Given the description of an element on the screen output the (x, y) to click on. 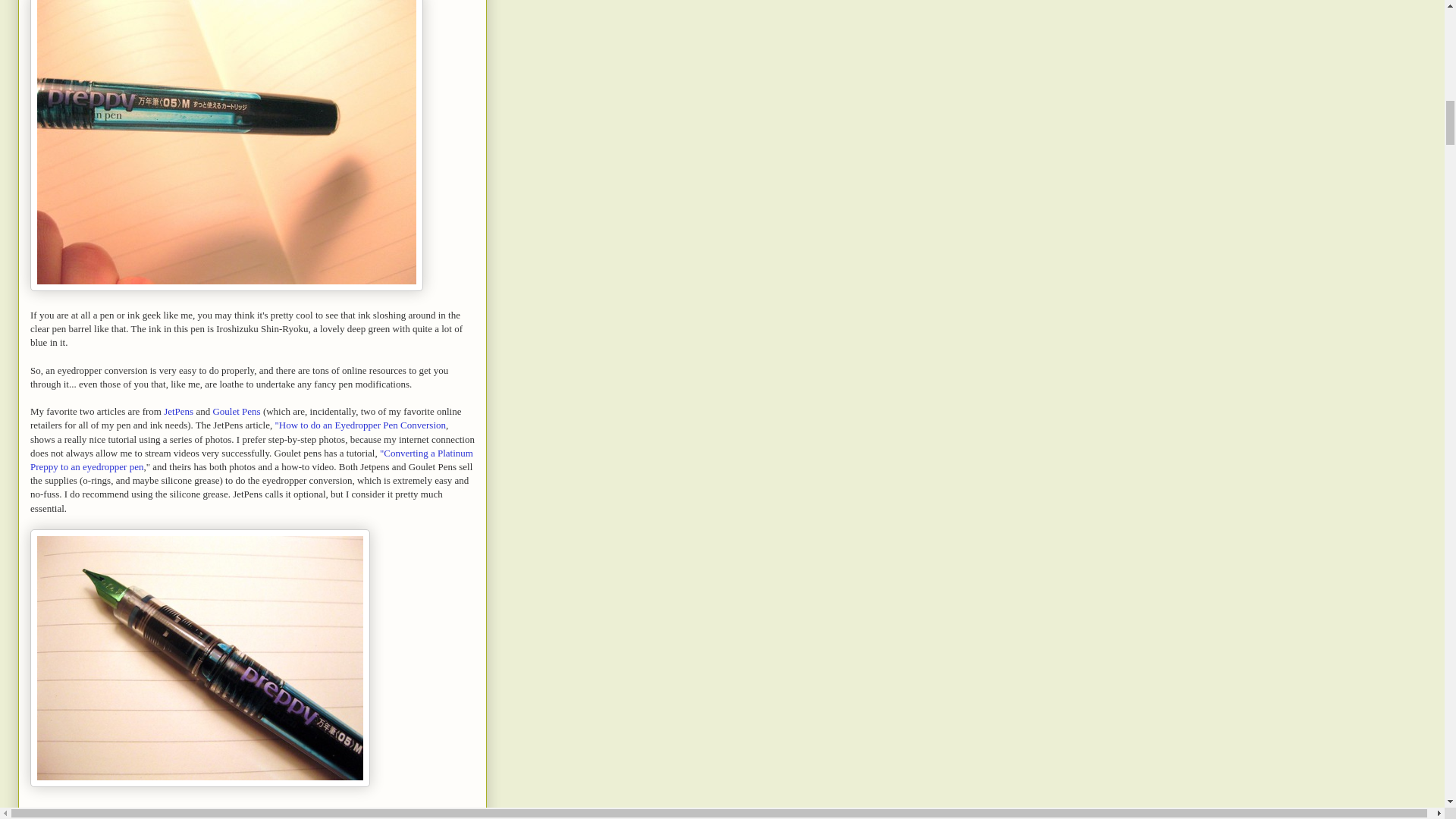
"Converting a Platinum Preppy to an eyedropper pen (251, 459)
"How to do an Eyedropper Pen Conversion (360, 424)
Goulet Pens (236, 410)
JetPens (178, 410)
